Given the description of an element on the screen output the (x, y) to click on. 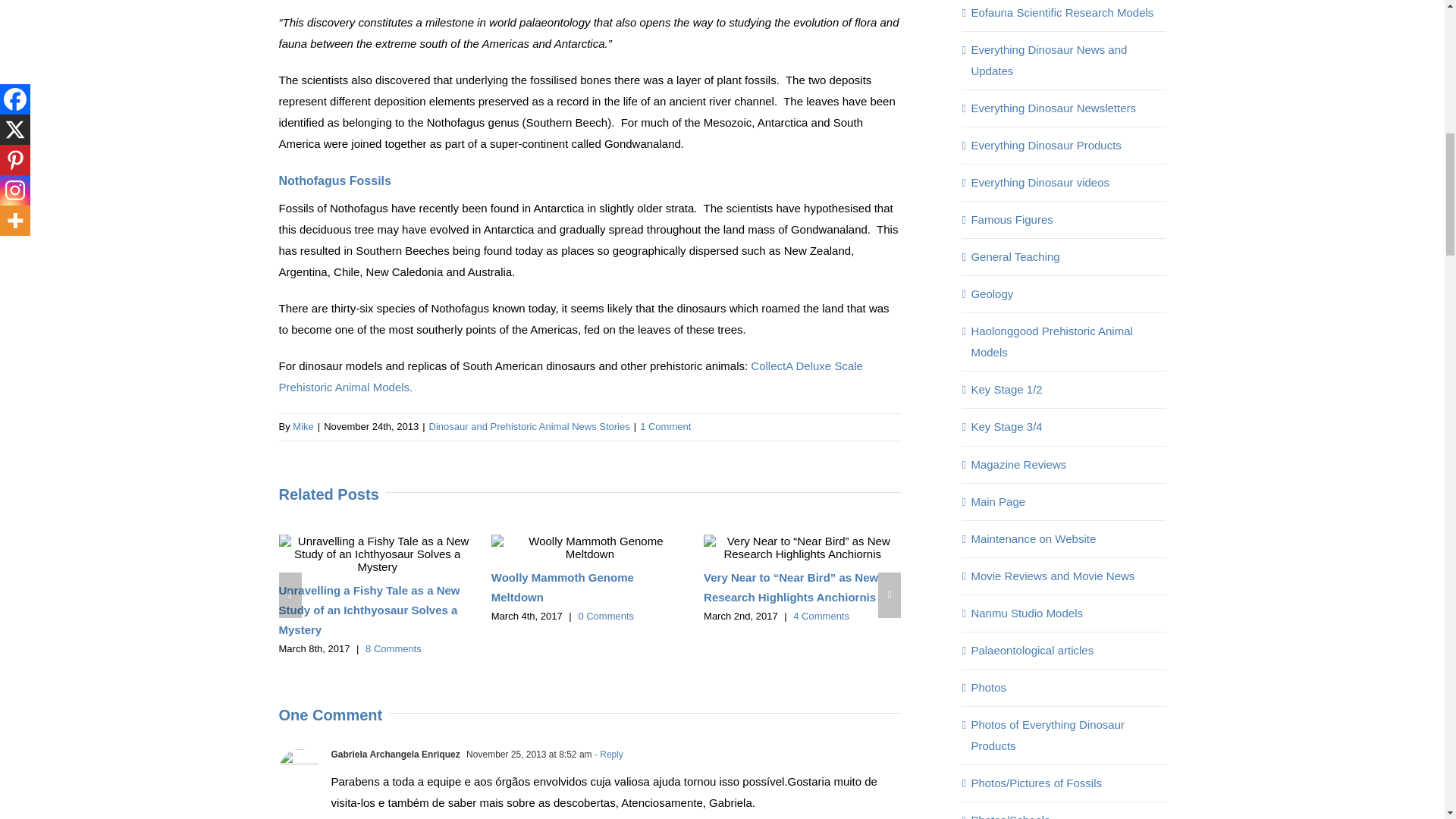
4 Comments (820, 615)
Woolly Mammoth Genome Meltdown (562, 586)
- Reply (607, 754)
0 Comments (605, 615)
1 Comment (665, 426)
8 Comments (393, 648)
CollectA Deluxe Scale Prehistoric Animal Models. (571, 376)
Mike (302, 426)
